Given the description of an element on the screen output the (x, y) to click on. 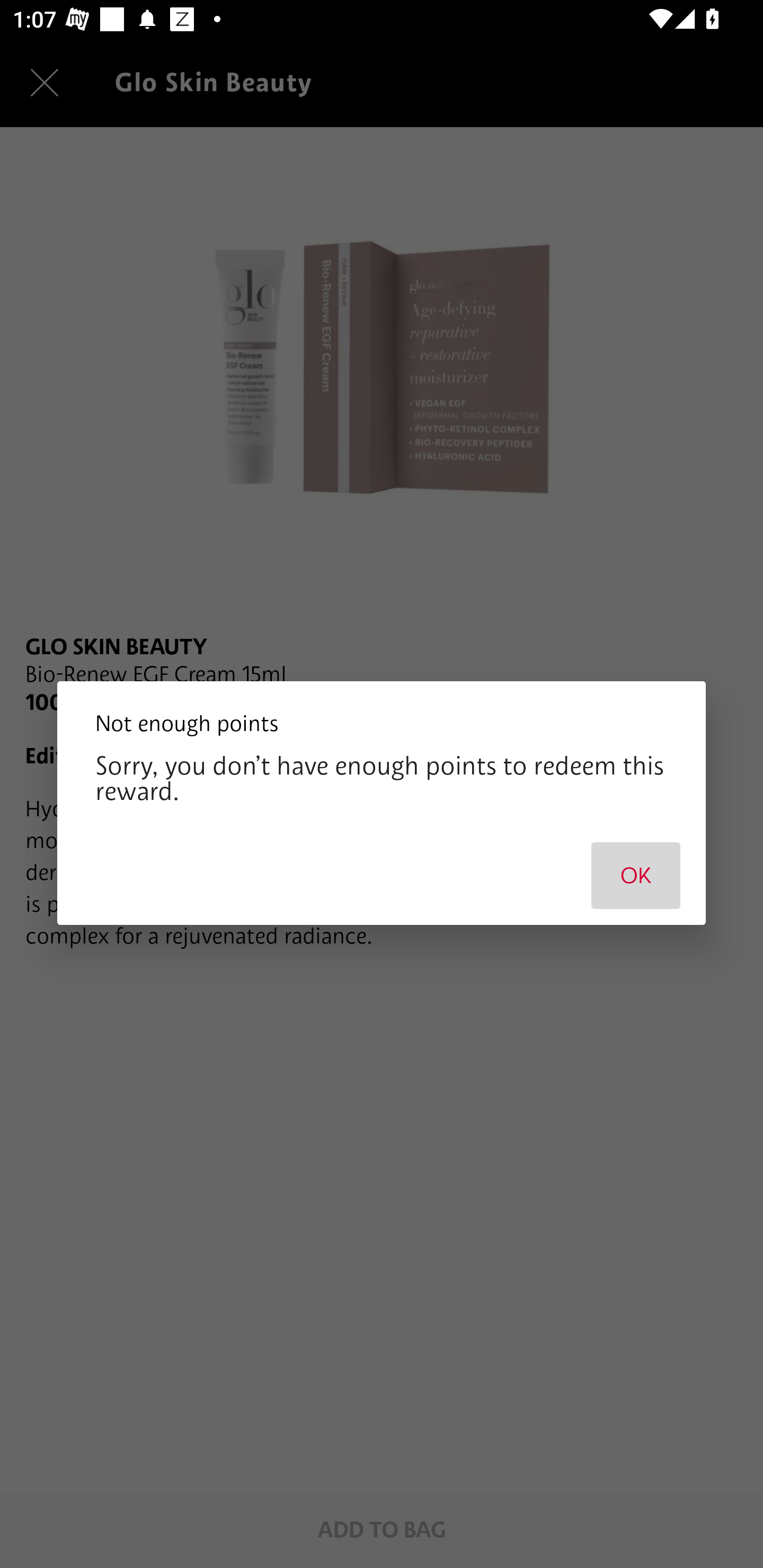
OK (635, 875)
